Given the description of an element on the screen output the (x, y) to click on. 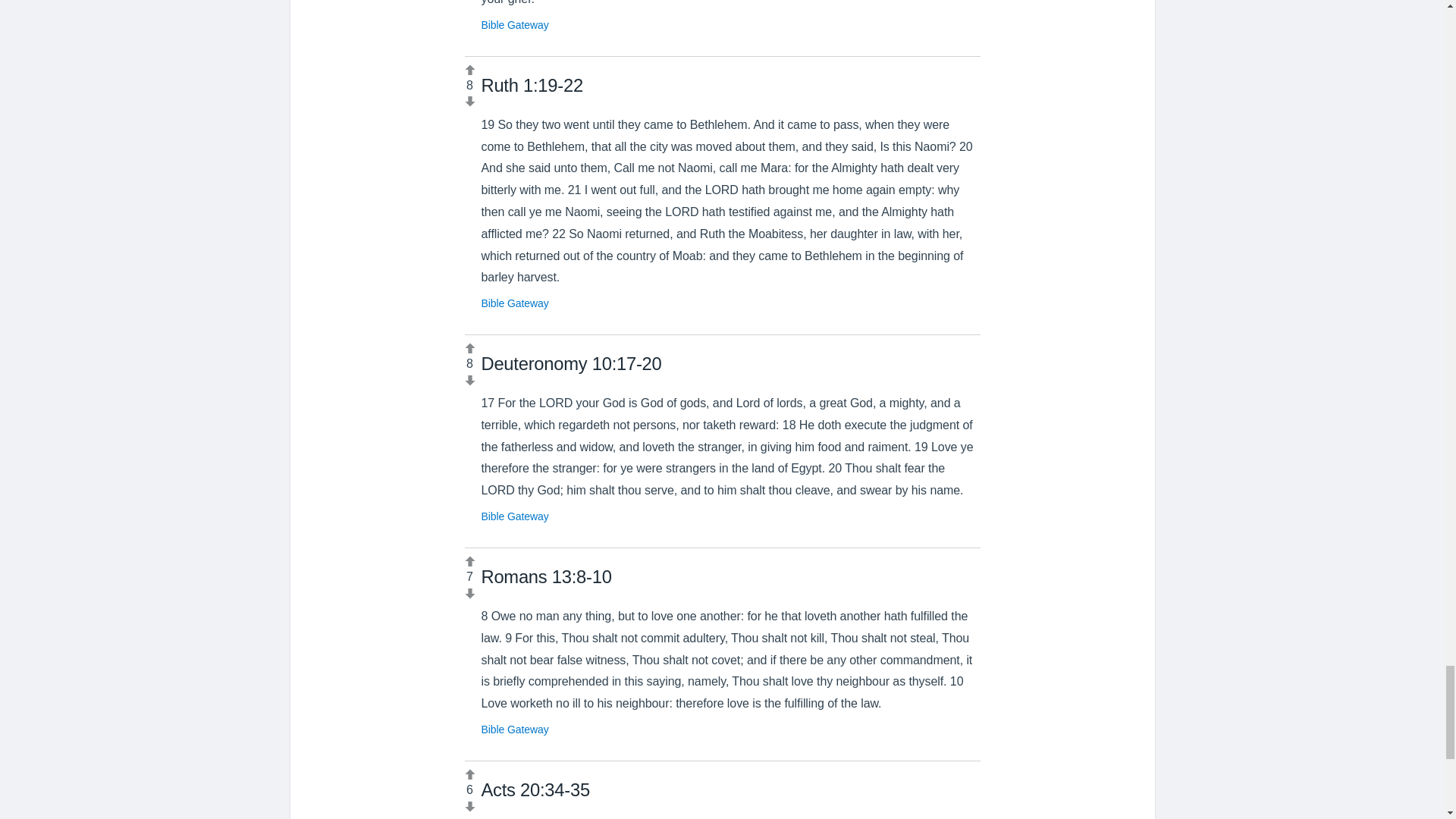
Bible Gateway (514, 729)
Bible Gateway (514, 303)
Bible Gateway (514, 516)
Bible Gateway (514, 24)
